Given the description of an element on the screen output the (x, y) to click on. 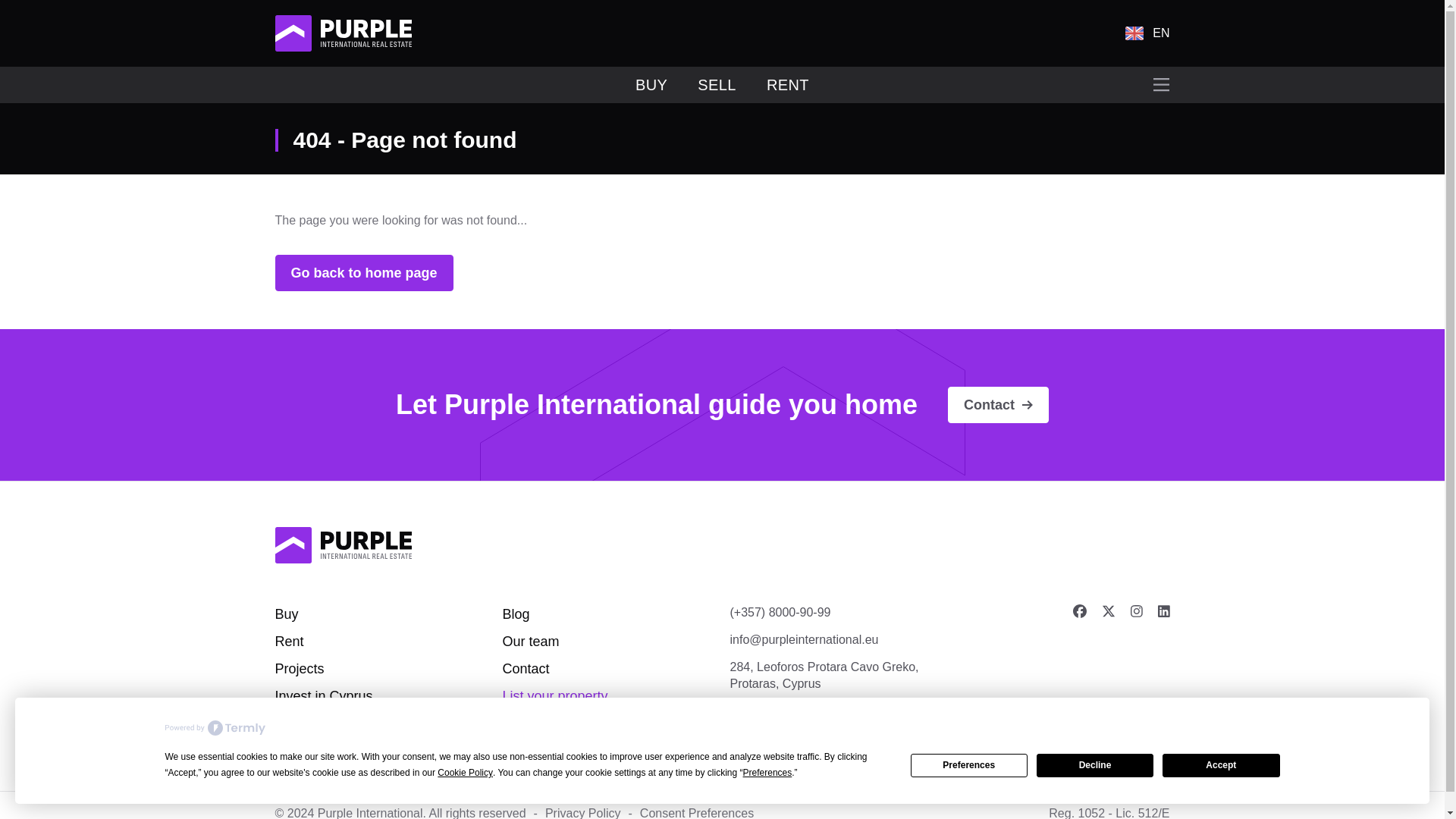
SELL (716, 84)
Accept (1220, 765)
Preferences (767, 772)
Blog (515, 613)
Our team (530, 641)
Preferences (969, 765)
EN (1147, 32)
Go back to home page (363, 272)
Rent (288, 641)
Contact (525, 668)
Buy (286, 613)
Cookie Policy (465, 772)
Privacy Policy (582, 812)
Invest in Cyprus (323, 695)
RENT (788, 84)
